Given the description of an element on the screen output the (x, y) to click on. 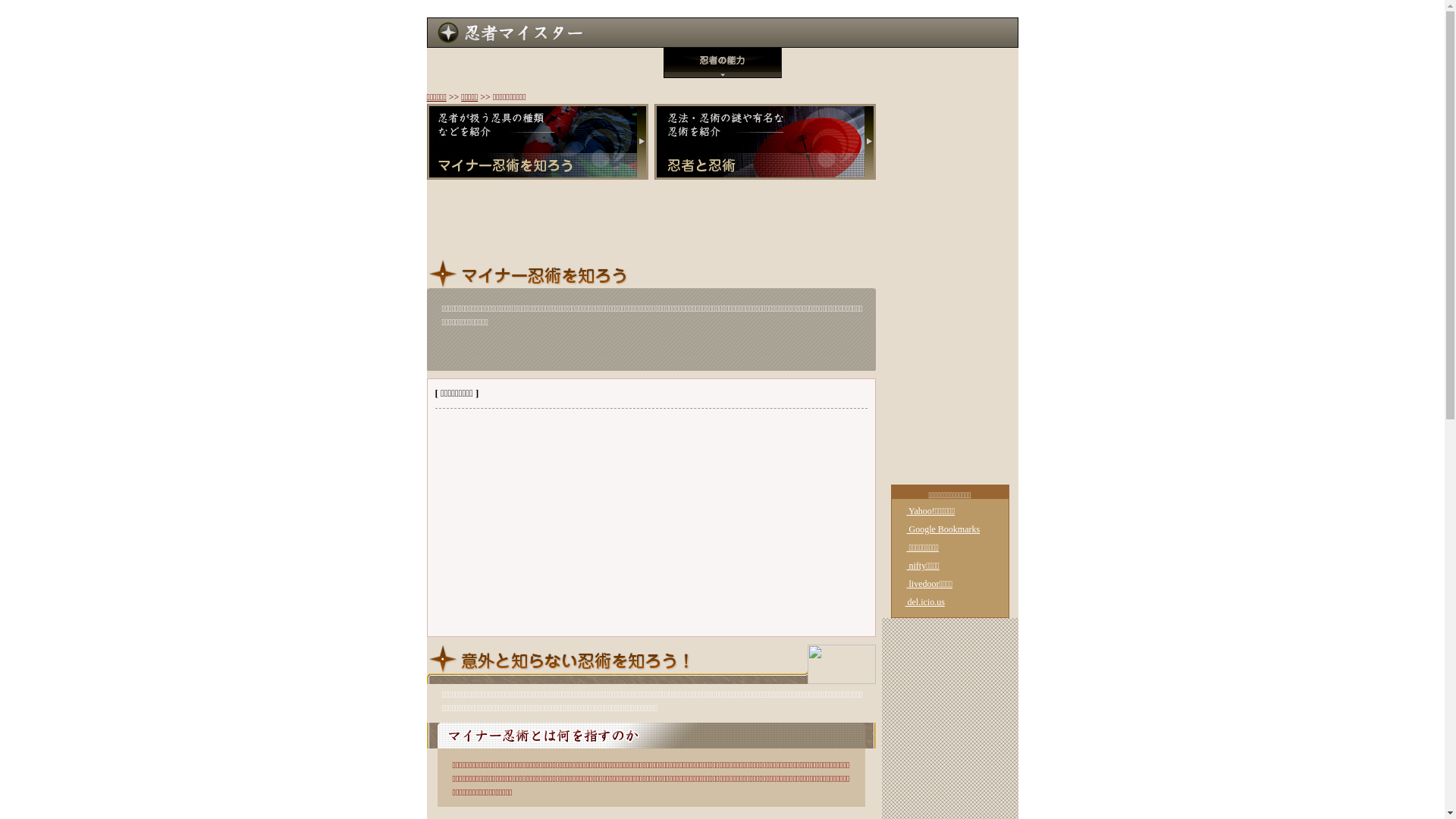
del.icio.us Element type: text (919, 601)
Advertisement Element type: hover (651, 522)
Google Bookmarks Element type: text (937, 529)
